Given the description of an element on the screen output the (x, y) to click on. 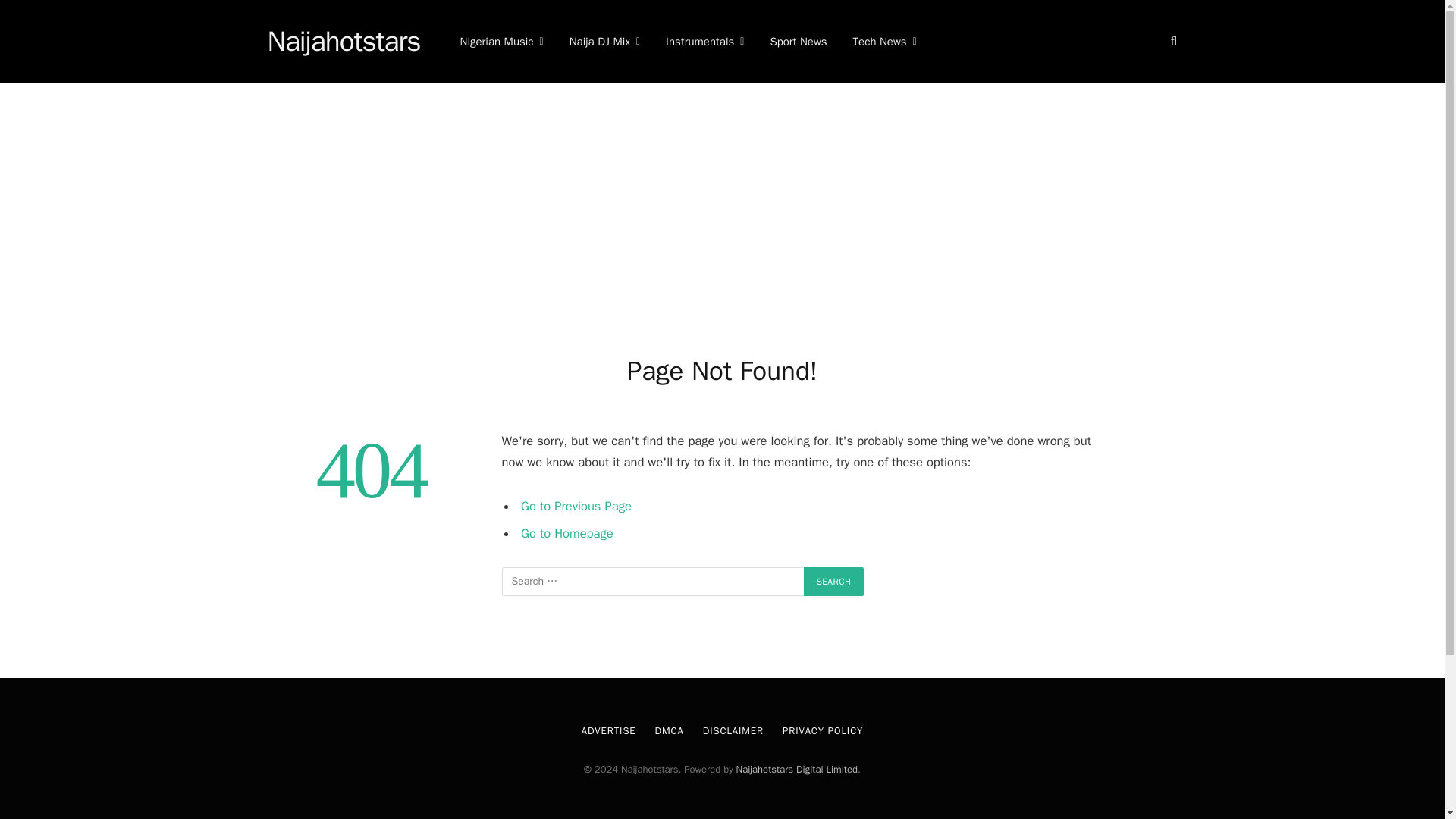
Naijahotstars (343, 41)
Go to Homepage (566, 532)
Naija DJ Mix (604, 41)
Naijahotstars (343, 41)
ADVERTISE (608, 730)
Search (833, 581)
DISCLAIMER (732, 730)
Search (833, 581)
Nigerian Music (501, 41)
Sport News (798, 41)
Go to Previous Page (576, 505)
Search (833, 581)
DMCA (669, 730)
Instrumentals (704, 41)
